Given the description of an element on the screen output the (x, y) to click on. 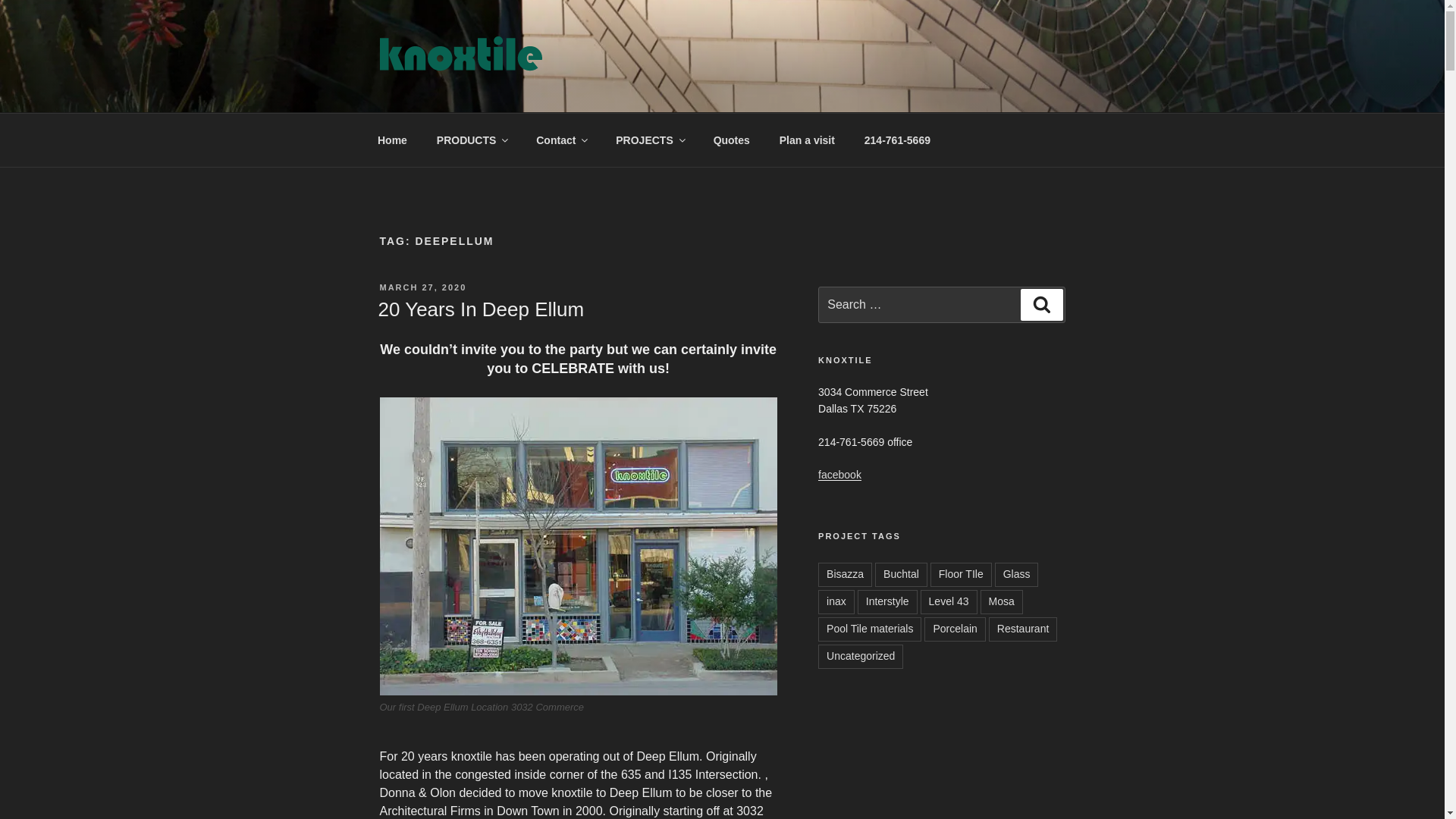
214-761-5669 (896, 139)
facebook (839, 474)
Home (392, 139)
MARCH 27, 2020 (421, 286)
Plan a visit (806, 139)
20 Years In Deep Ellum (480, 309)
Contact (560, 139)
Quotes (731, 139)
PROJECTS (649, 139)
Search (1041, 305)
